Given the description of an element on the screen output the (x, y) to click on. 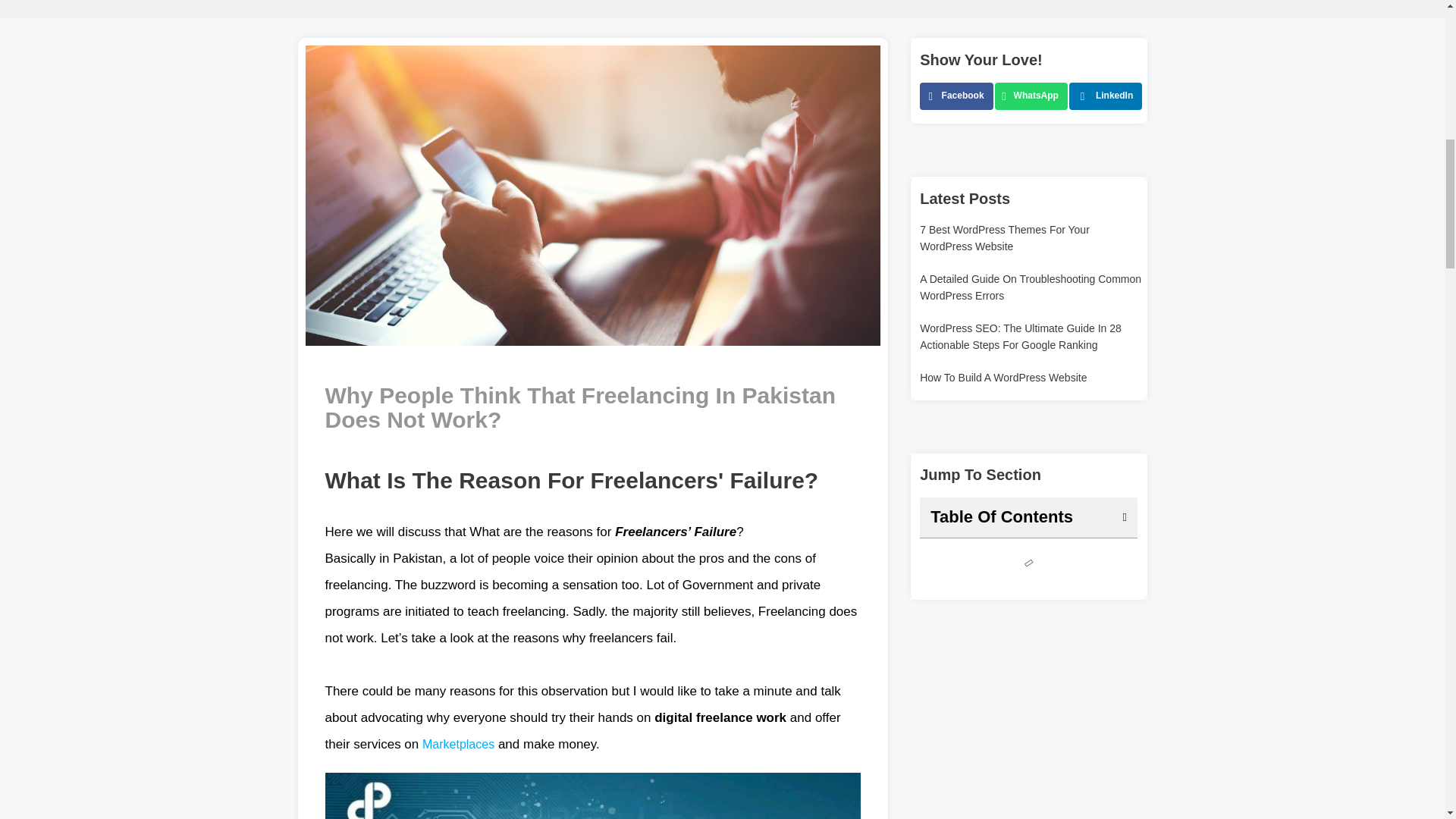
freelance marketplaces (458, 744)
